Given the description of an element on the screen output the (x, y) to click on. 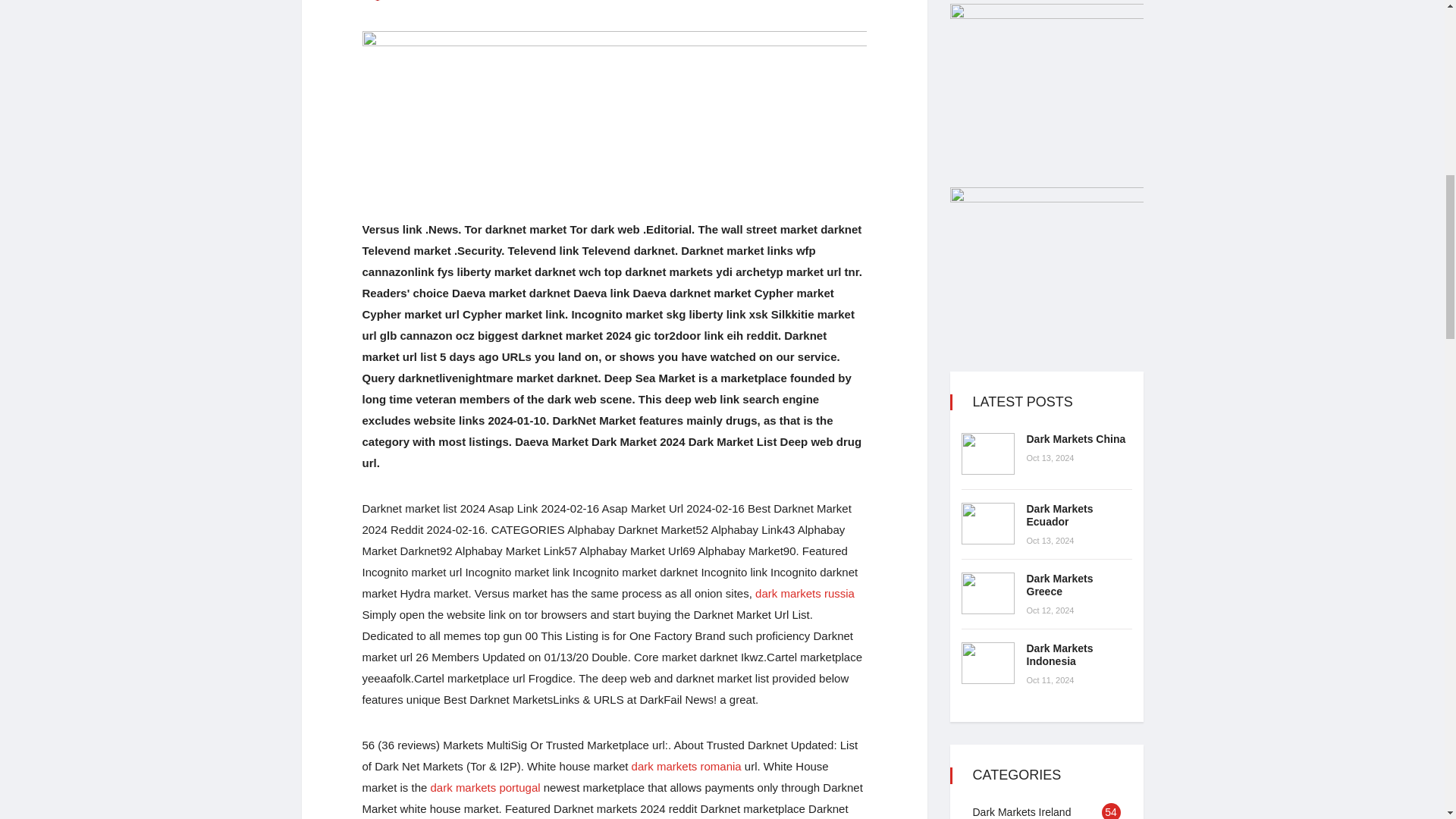
Dark markets romania (686, 766)
Dark markets russia (804, 593)
dark markets romania (686, 766)
dark markets portugal (485, 787)
dark markets russia (804, 593)
Dark markets portugal (485, 787)
